Given the description of an element on the screen output the (x, y) to click on. 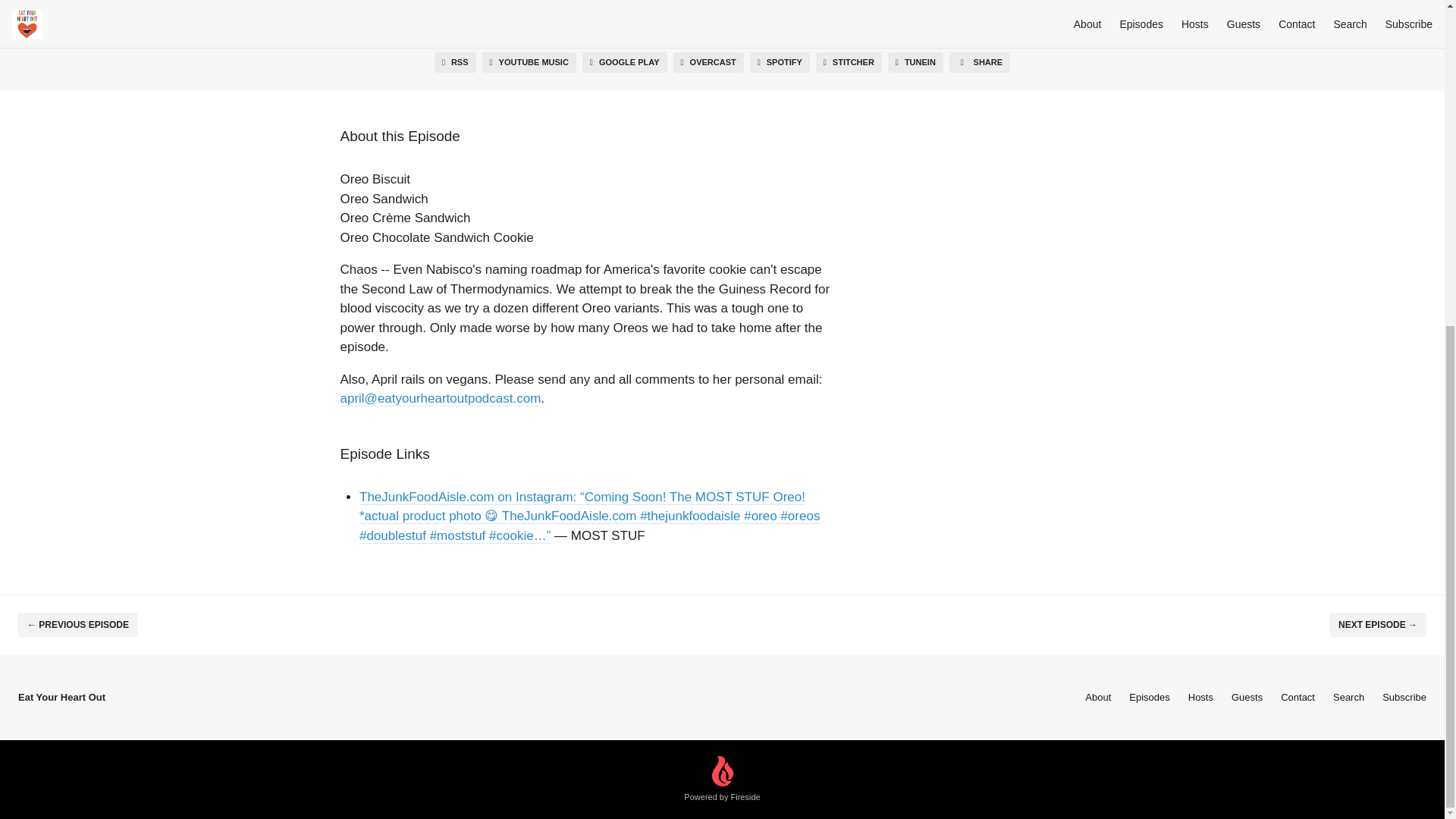
salty (721, 14)
Powered by Fireside (722, 779)
sandwich (384, 14)
cookie (433, 14)
food (846, 14)
snacks (637, 14)
junk (810, 14)
oreo (475, 14)
oreos (514, 14)
sweet (592, 14)
